Given the description of an element on the screen output the (x, y) to click on. 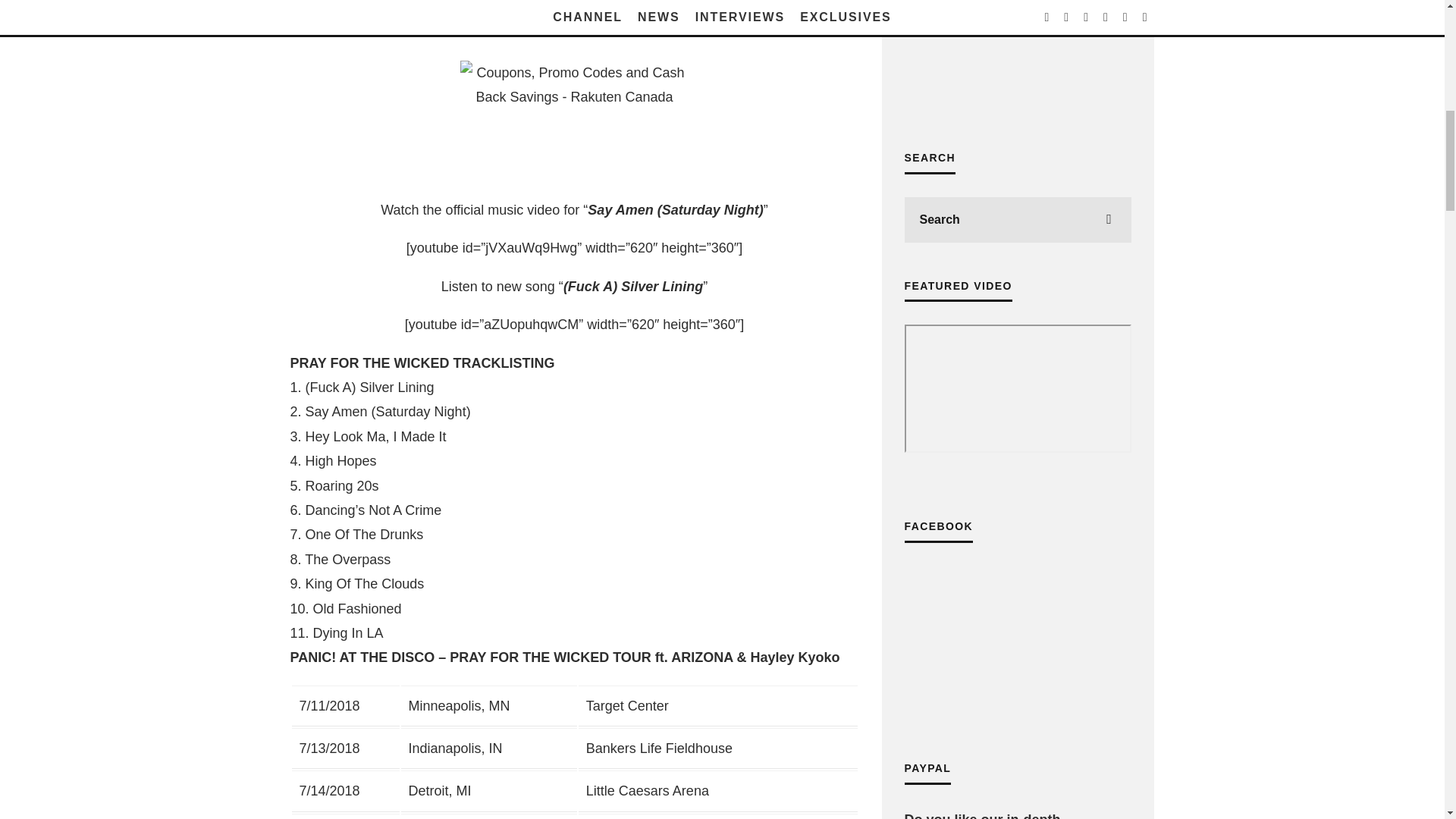
Advertisement (1017, 57)
